Given the description of an element on the screen output the (x, y) to click on. 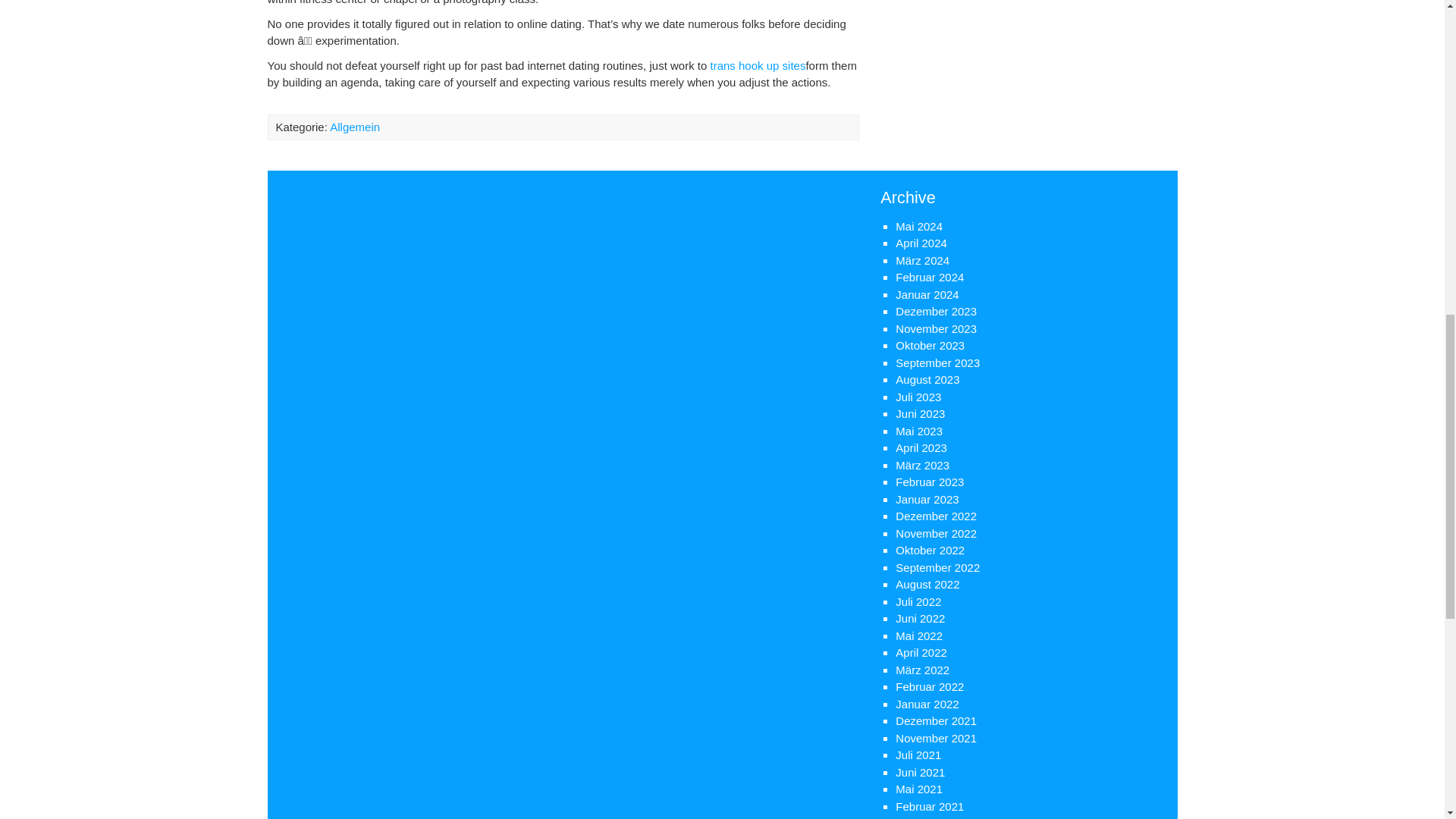
November 2023 (935, 328)
Juni 2023 (919, 413)
Februar 2023 (929, 481)
Dezember 2022 (935, 515)
April 2024 (921, 242)
trans hook up sites (757, 65)
April 2023 (921, 447)
Februar 2024 (929, 277)
August 2023 (927, 379)
Oktober 2023 (929, 345)
Mai 2023 (918, 431)
Januar 2024 (926, 294)
Dezember 2023 (935, 310)
September 2023 (937, 362)
Mai 2024 (918, 226)
